Given the description of an element on the screen output the (x, y) to click on. 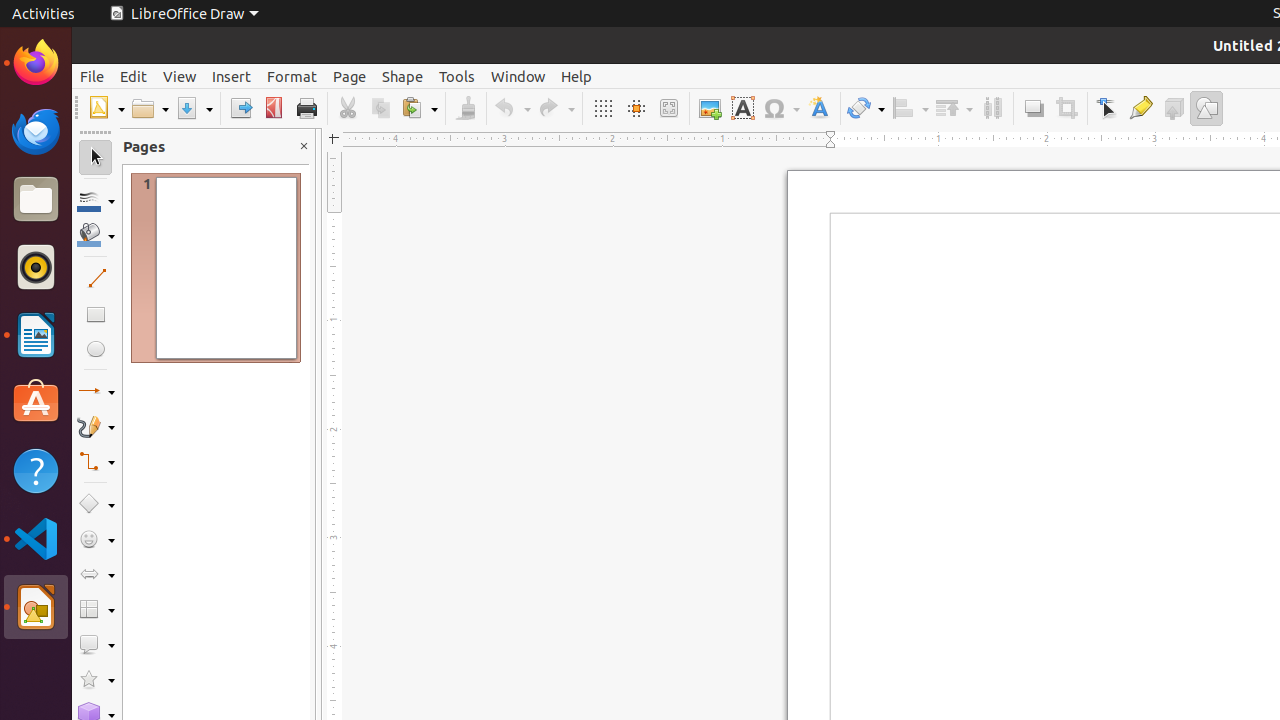
Open Element type: push-button (150, 108)
Lines and Arrows Element type: push-button (96, 391)
Cut Element type: push-button (347, 108)
Toggle Extrusion Element type: push-button (1173, 108)
Window Element type: menu (518, 76)
